Given the description of an element on the screen output the (x, y) to click on. 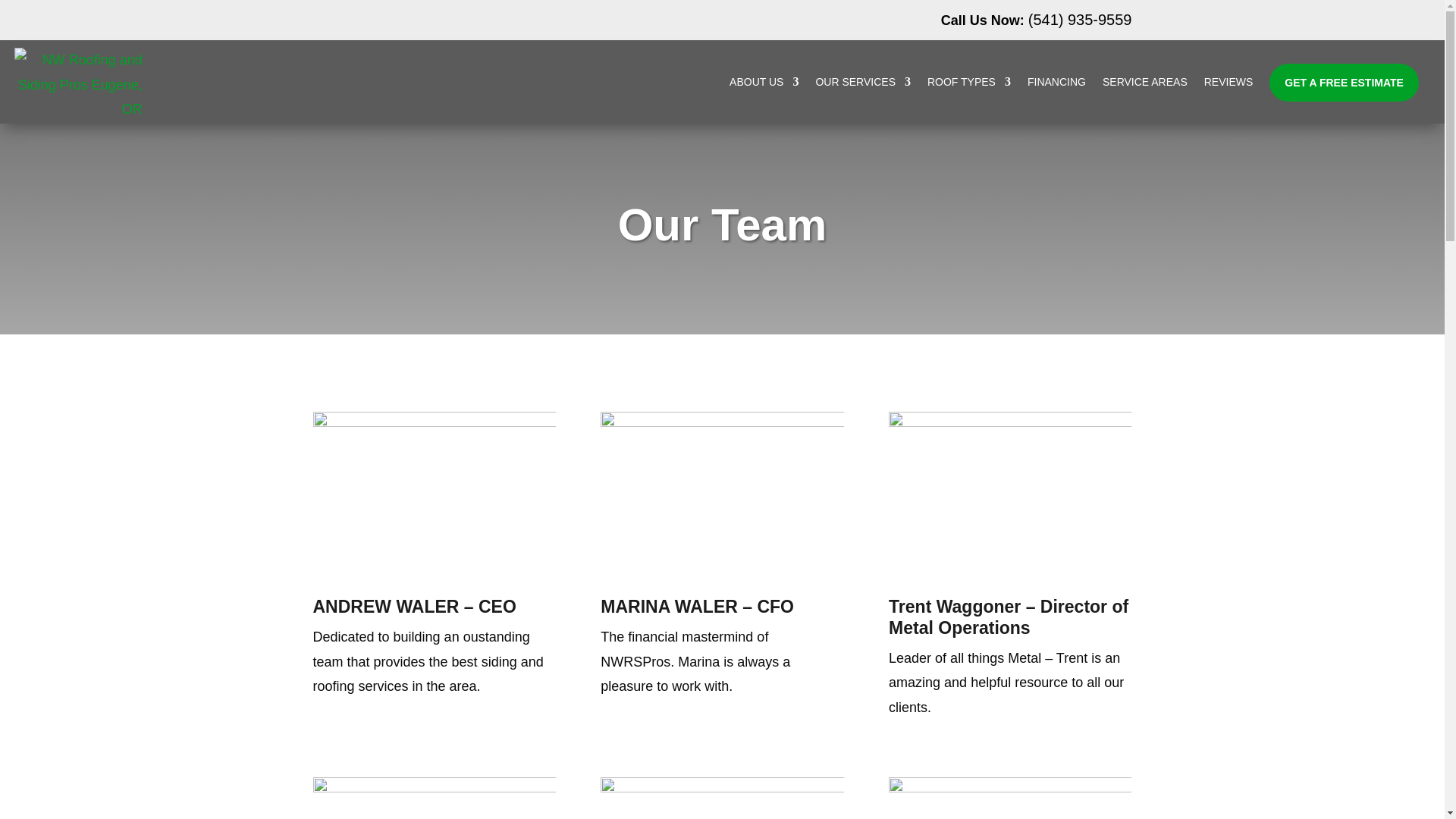
Marina Waler (721, 492)
OUR SERVICES (863, 81)
Danny Roseberry 1 (433, 798)
Fernando Castillo 1 (721, 798)
Anthony Jones1 (1009, 798)
Trent Waggoner (1009, 492)
ABOUT US (763, 81)
Andrew Waler (433, 492)
